Given the description of an element on the screen output the (x, y) to click on. 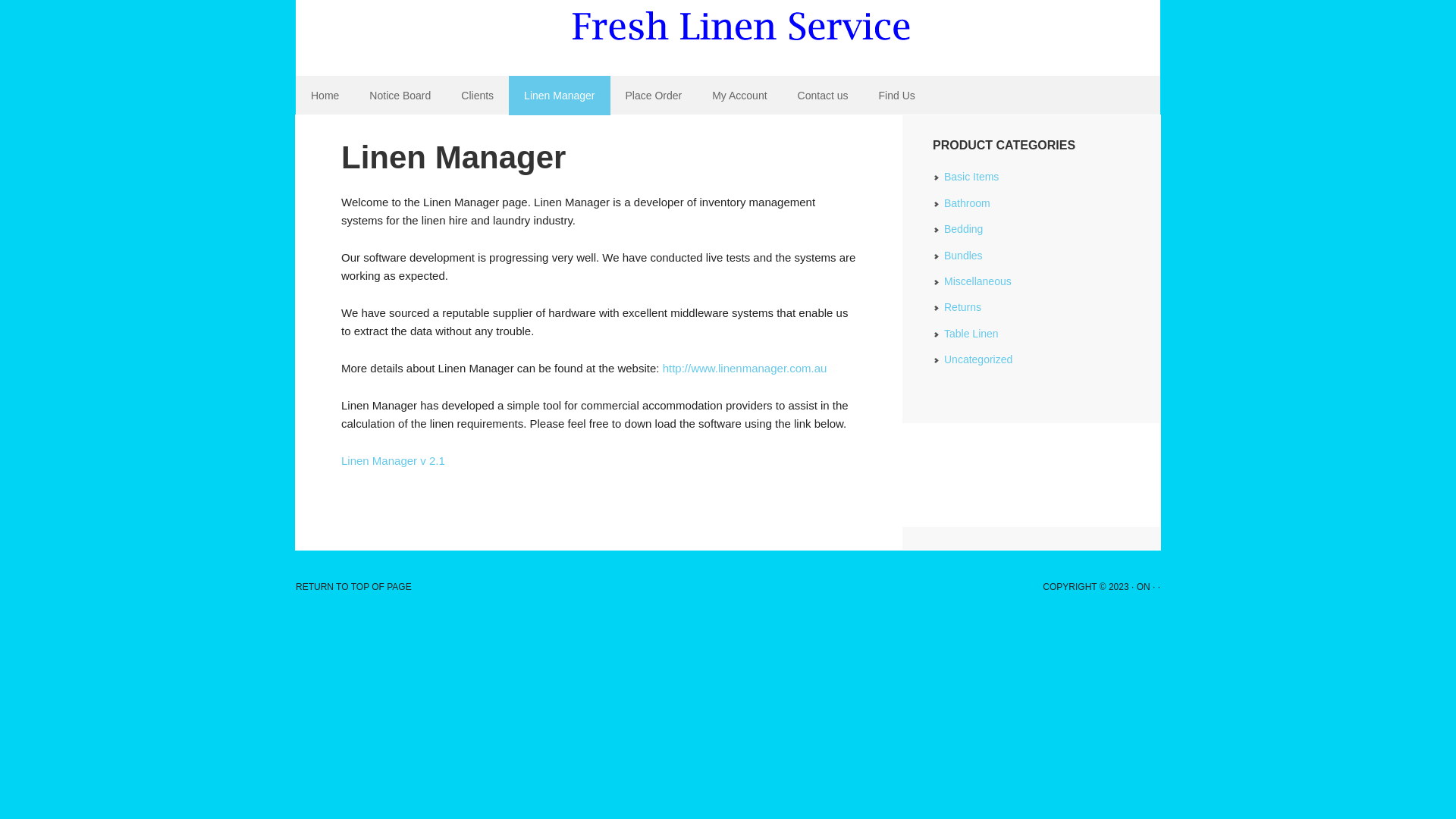
RETURN TO TOP OF PAGE Element type: text (353, 586)
Bundles Element type: text (963, 255)
Find Us Element type: text (896, 95)
Home Element type: text (324, 95)
Fresh Linen Service Element type: text (727, 37)
Notice Board Element type: text (399, 95)
Basic Items Element type: text (971, 176)
Returns Element type: text (962, 307)
Uncategorized Element type: text (978, 359)
http://www.linenmanager.com.au Element type: text (744, 367)
Place Order Element type: text (652, 95)
Bathroom Element type: text (967, 203)
Bedding Element type: text (963, 228)
Linen Manager Element type: text (558, 95)
Linen Manager v 2.1 Element type: text (393, 460)
Miscellaneous Element type: text (977, 281)
Contact us Element type: text (822, 95)
Table Linen Element type: text (971, 333)
